Given the description of an element on the screen output the (x, y) to click on. 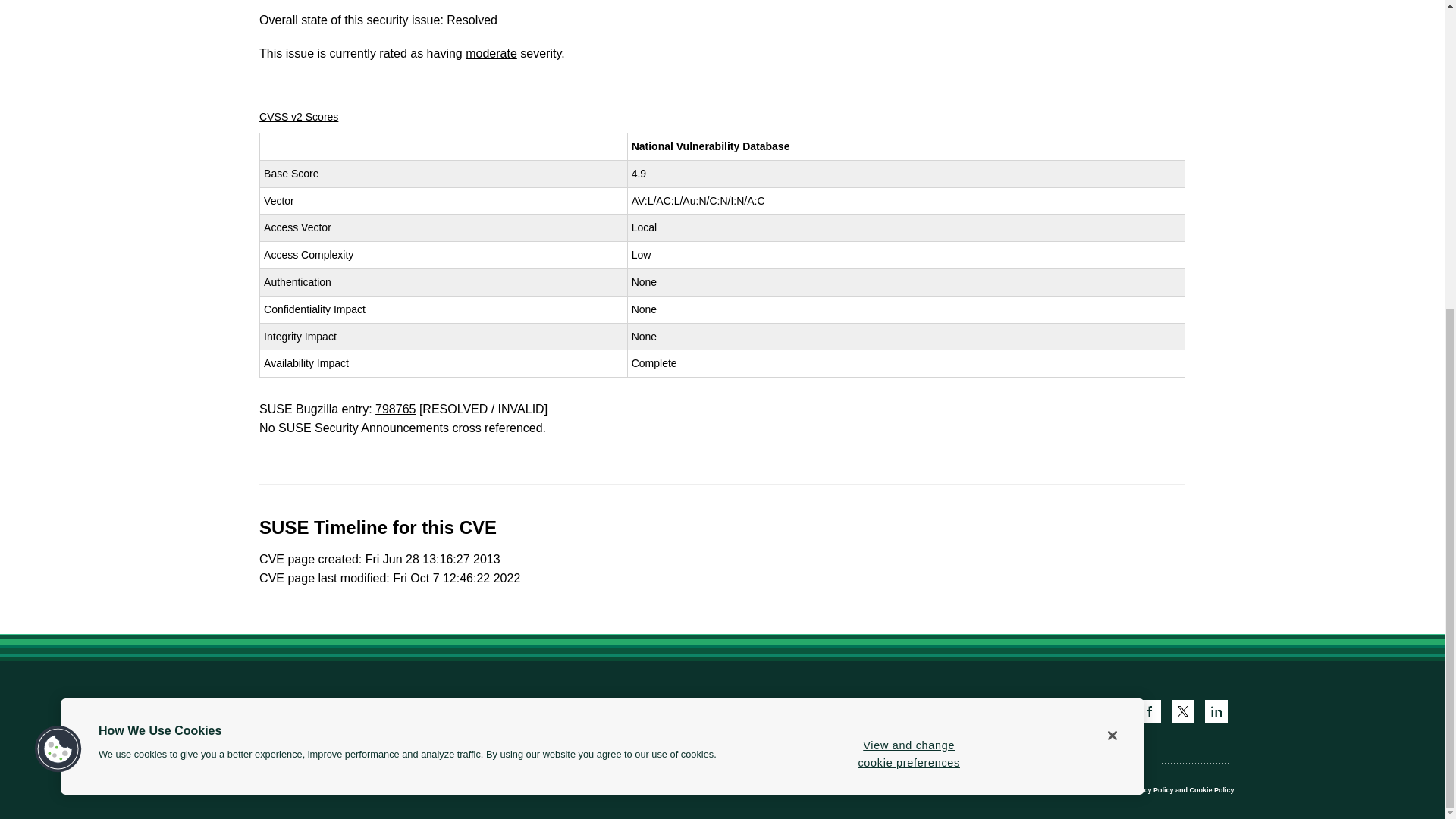
Careers (351, 710)
Cookies Button (57, 260)
